Given the description of an element on the screen output the (x, y) to click on. 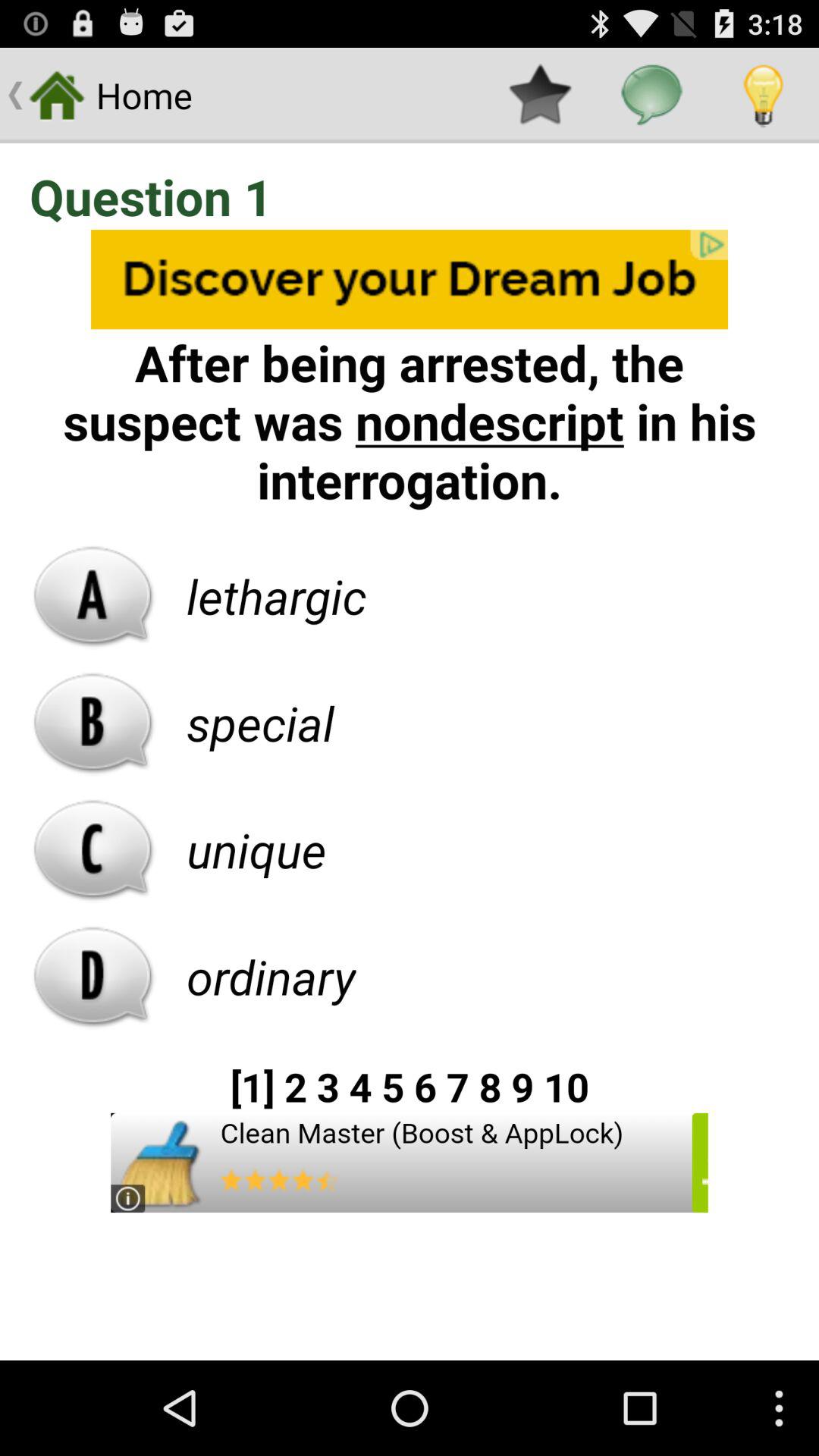
advertisement link (409, 1162)
